Given the description of an element on the screen output the (x, y) to click on. 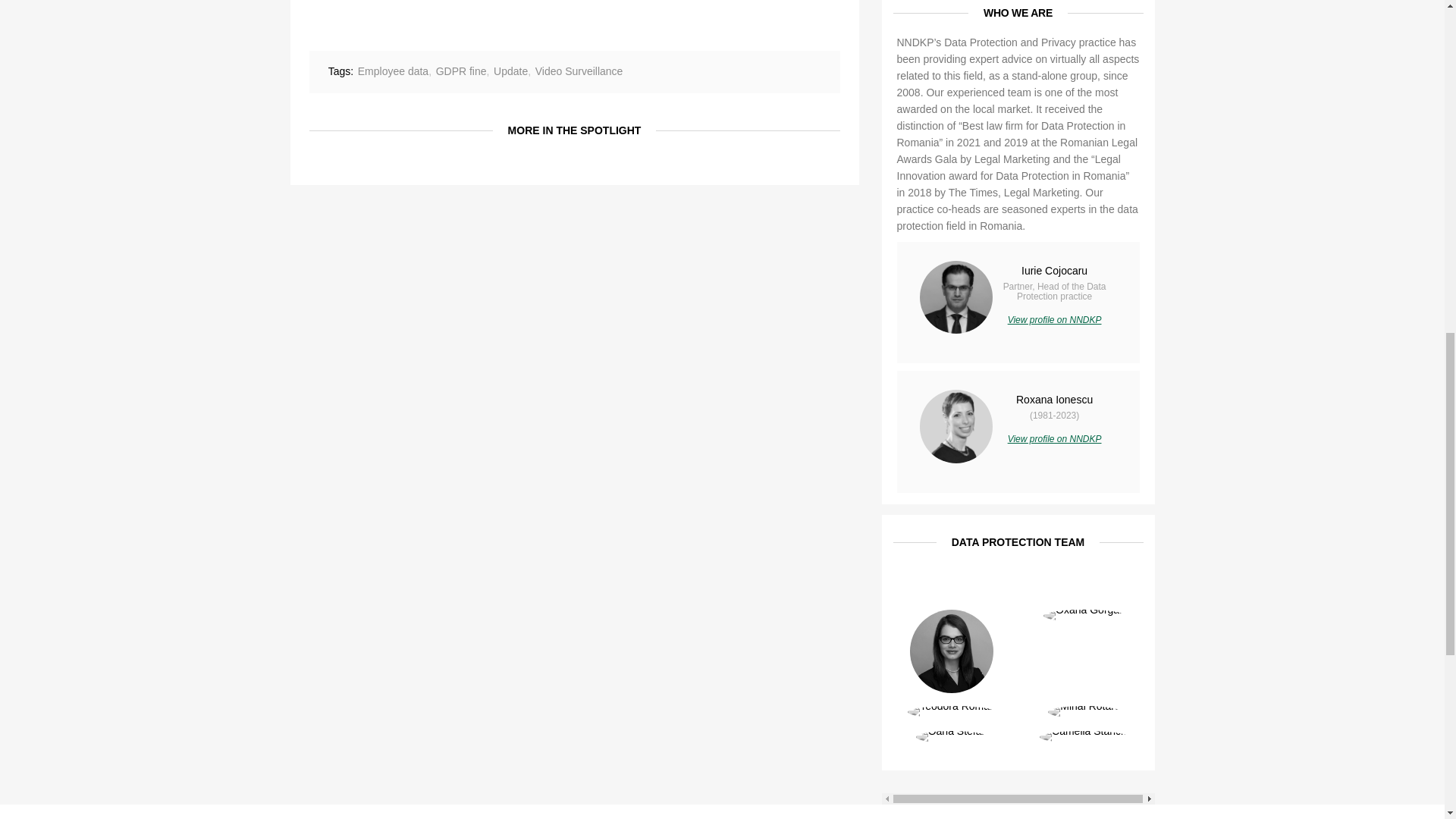
View profile on NNDKP (1054, 319)
Madalina Bucur (951, 651)
Employee data (393, 70)
Camelia Stanciu (1083, 736)
View profile on NNDKP (1054, 439)
Video Surveillance (579, 70)
GDPR fine (460, 70)
Teodora Roman (951, 711)
Oxana Gorgan (1084, 615)
Mihai Rotaru (1083, 711)
